Given the description of an element on the screen output the (x, y) to click on. 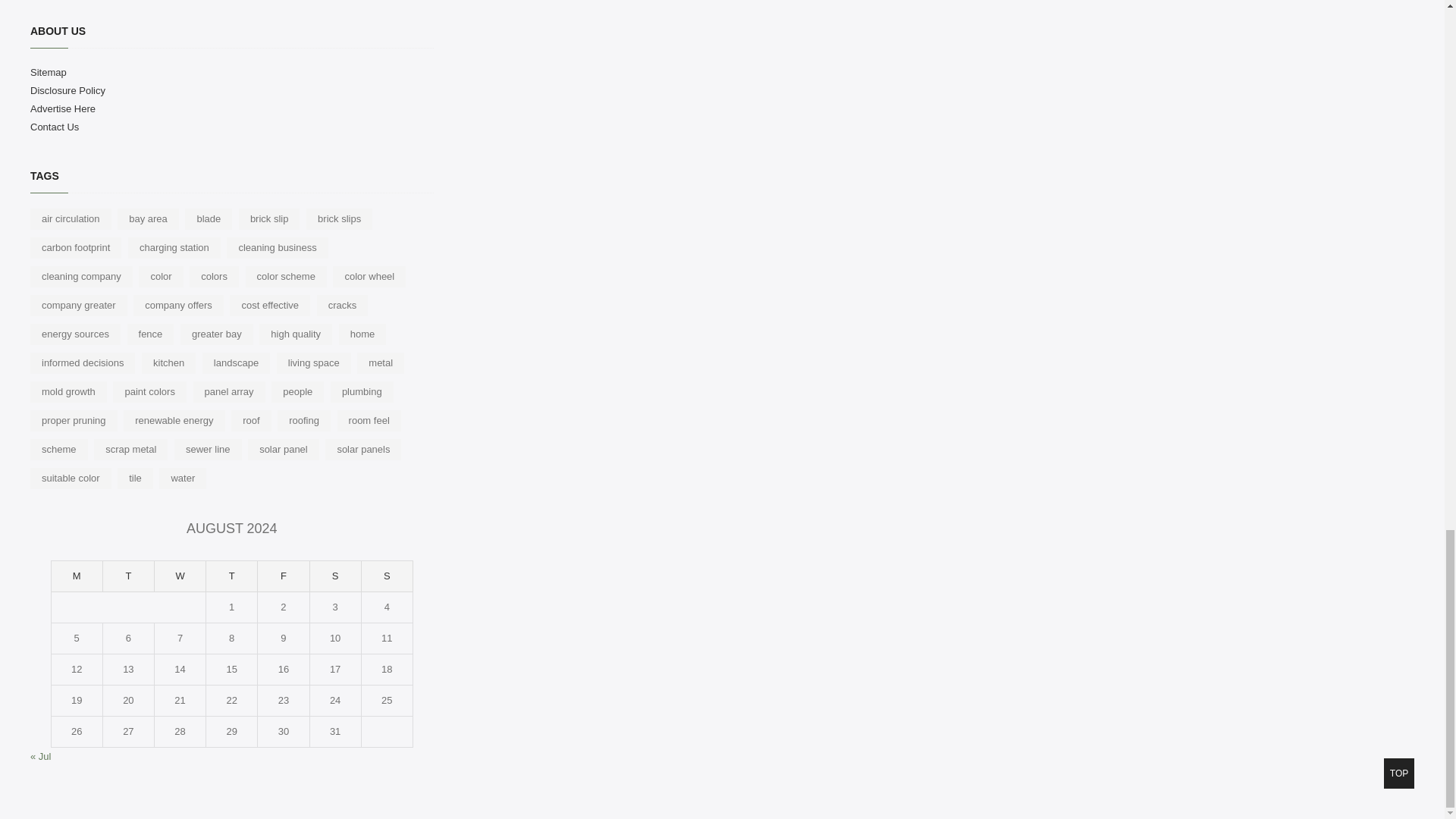
Saturday (335, 576)
Thursday (231, 576)
Monday (76, 576)
Friday (282, 576)
Tuesday (128, 576)
Wednesday (180, 576)
Sunday (387, 576)
